Given the description of an element on the screen output the (x, y) to click on. 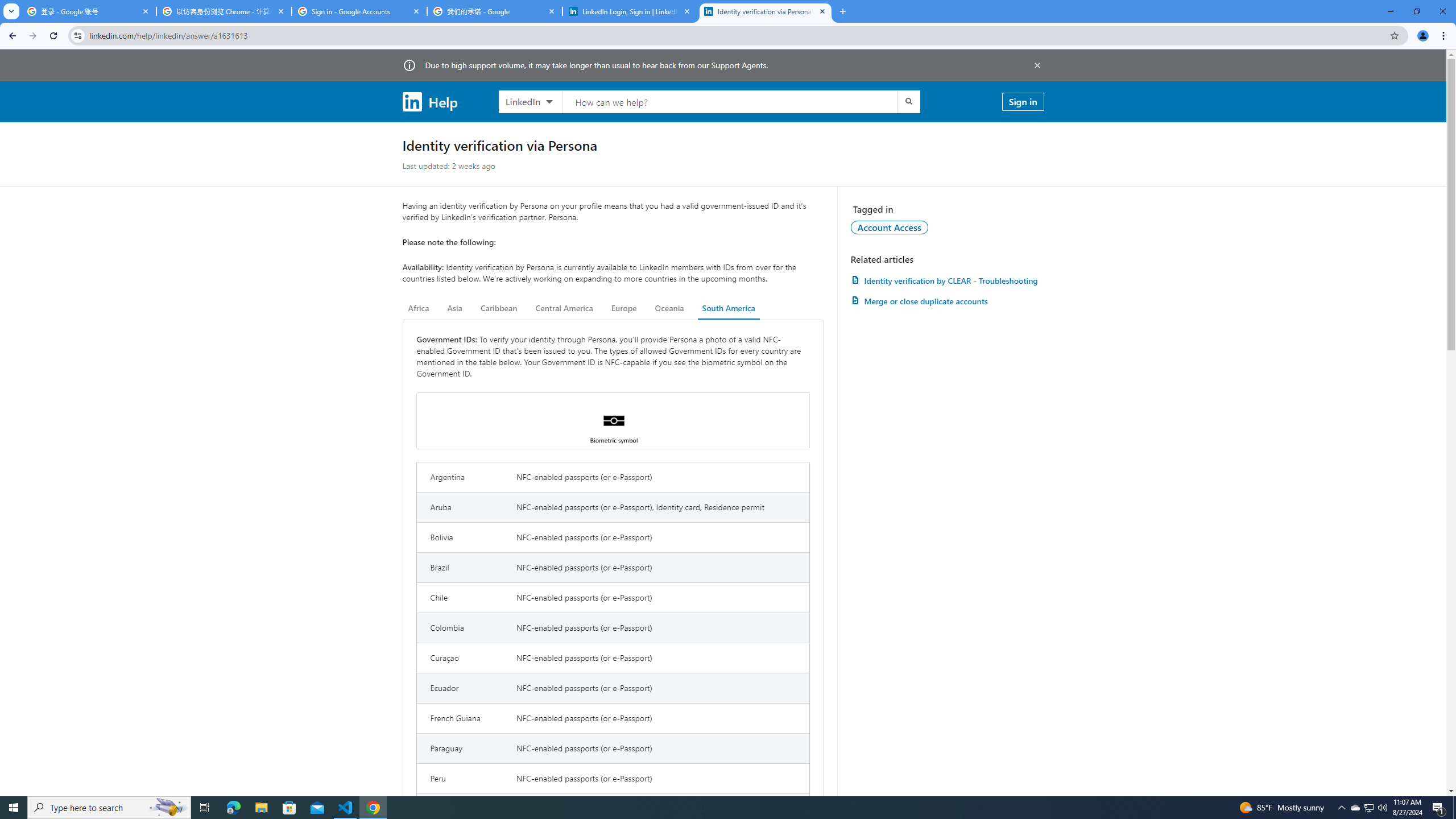
Submit search (908, 101)
Sign in - Google Accounts (359, 11)
AutomationID: article-link-a1337200 (946, 300)
Asia (454, 308)
Identity verification via Persona | LinkedIn Help (765, 11)
Oceania (668, 308)
Central America (563, 308)
Africa (418, 308)
Caribbean (499, 308)
Merge or close duplicate accounts (946, 300)
